Given the description of an element on the screen output the (x, y) to click on. 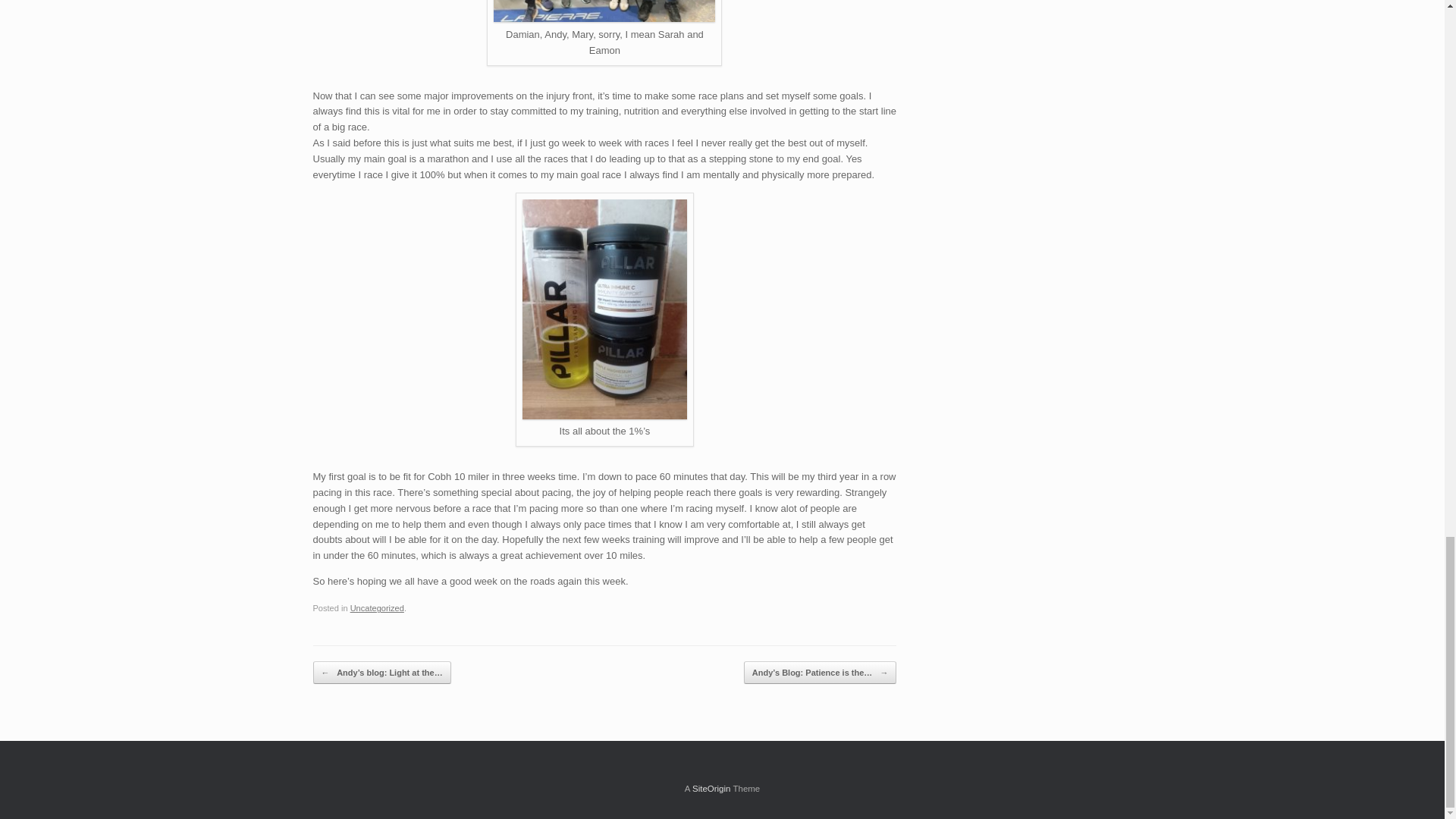
Uncategorized (377, 607)
